Given the description of an element on the screen output the (x, y) to click on. 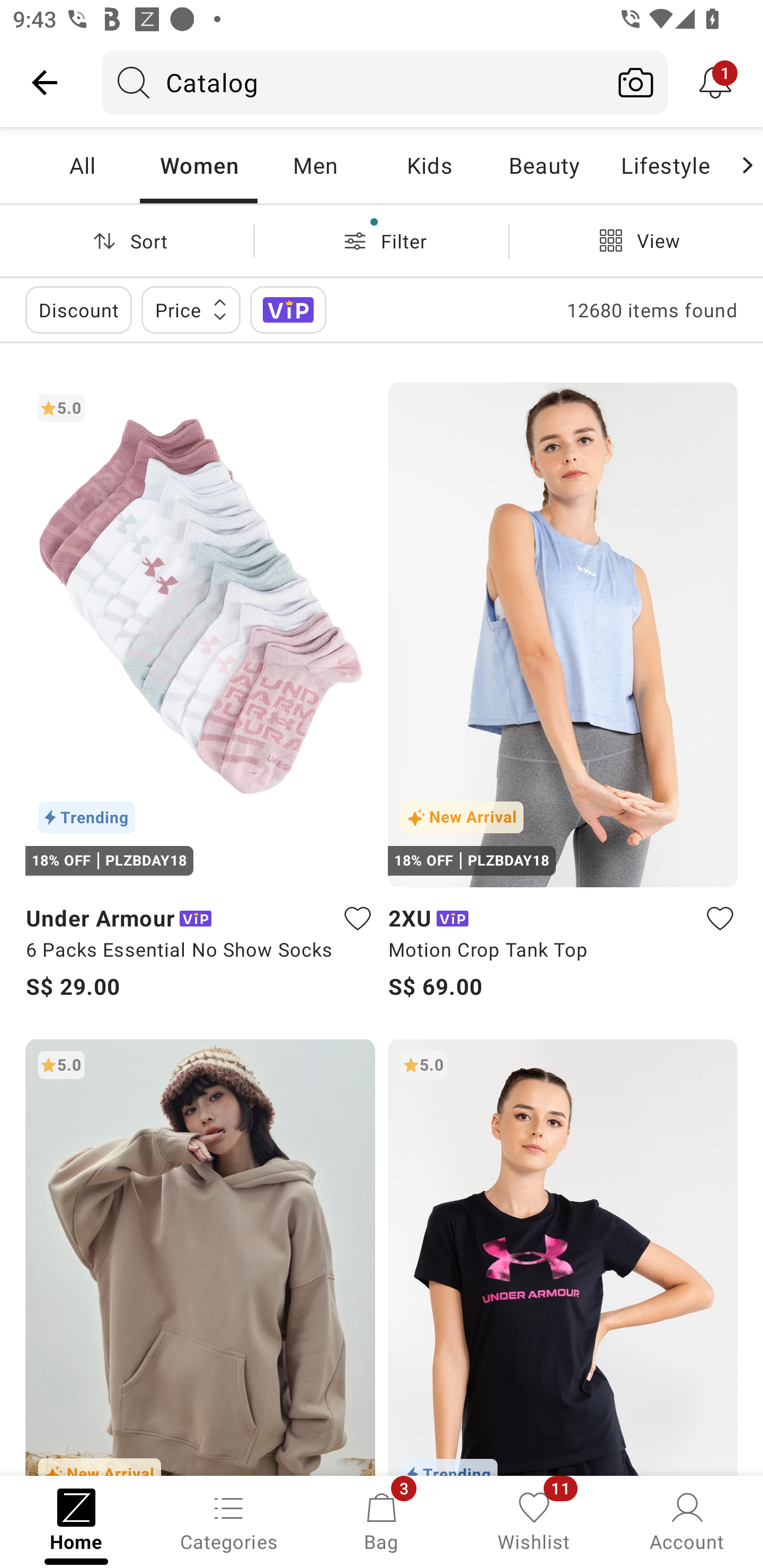
Navigate up (44, 82)
Catalog (352, 82)
All (82, 165)
Men (314, 165)
Kids (429, 165)
Beauty (543, 165)
Lifestyle (665, 165)
Sort (126, 240)
Filter (381, 240)
View (636, 240)
Discount (78, 309)
Price (190, 309)
5.0 New Arrival (200, 1256)
5.0 Trending (562, 1256)
Categories (228, 1519)
Bag, 3 new notifications Bag (381, 1519)
Wishlist, 11 new notifications Wishlist (533, 1519)
Account (686, 1519)
